Given the description of an element on the screen output the (x, y) to click on. 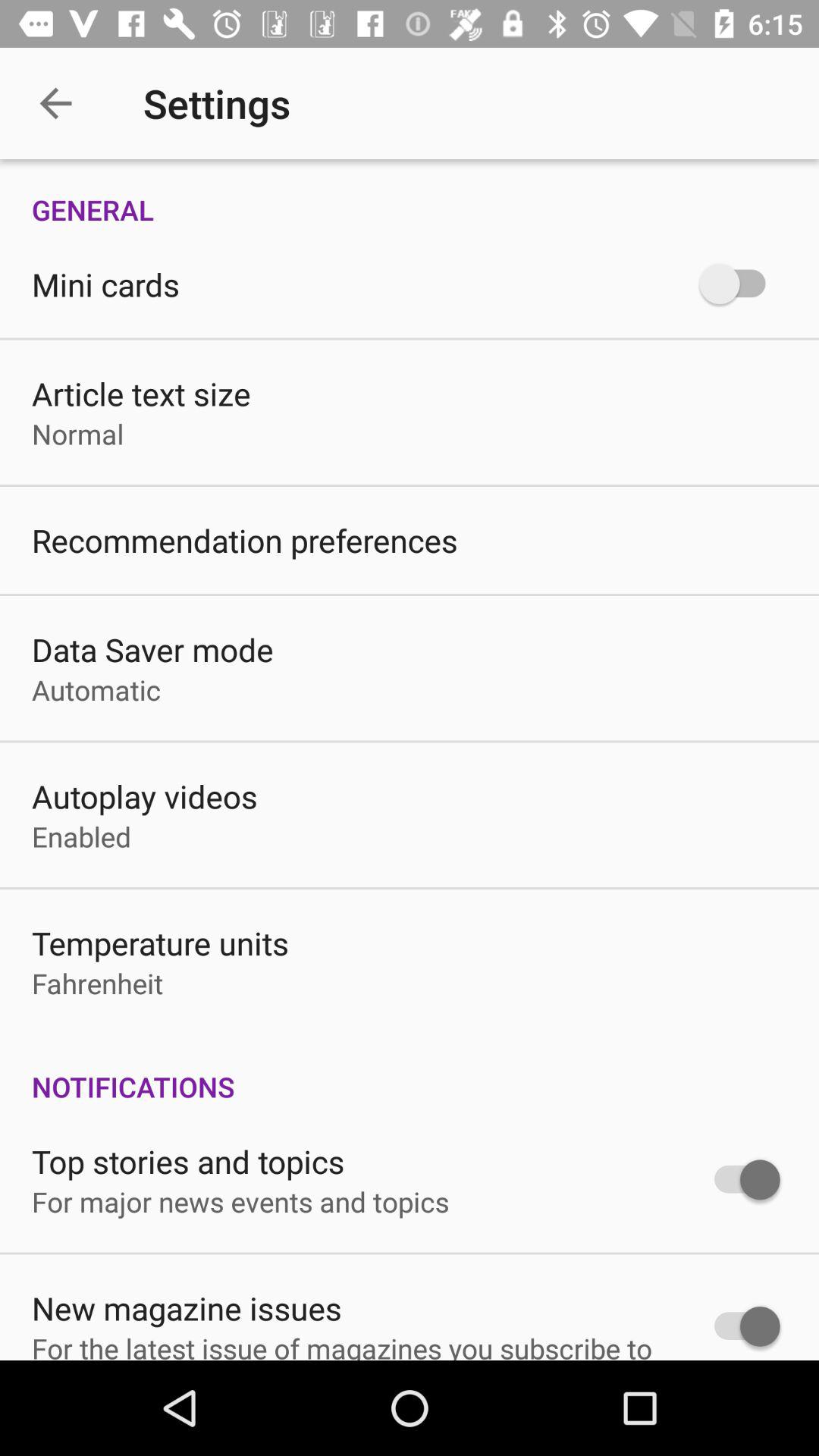
flip to new magazine issues item (186, 1307)
